Given the description of an element on the screen output the (x, y) to click on. 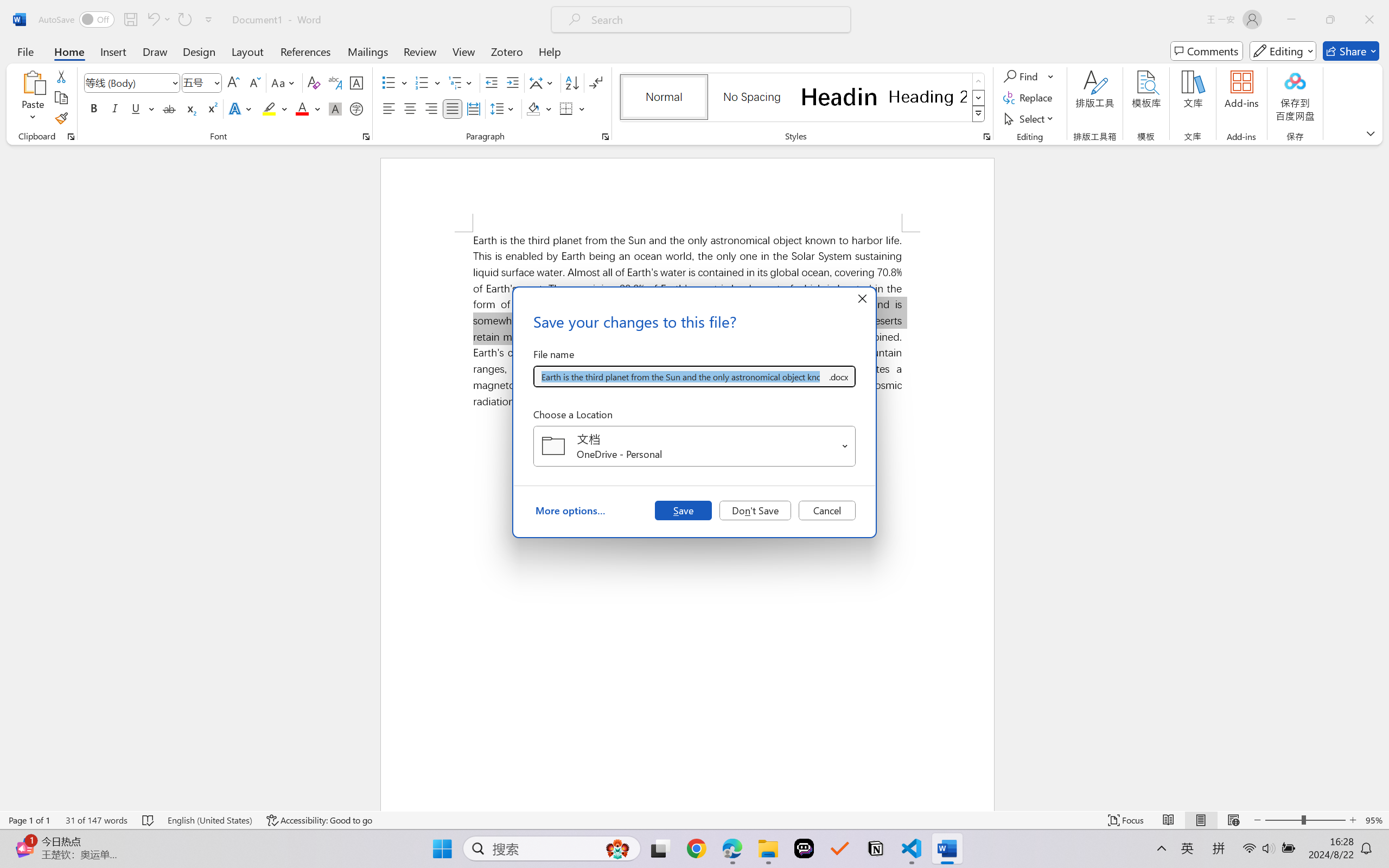
Font... (365, 136)
AutomationID: QuickStylesGallery (802, 97)
Character Shading (334, 108)
Asian Layout (542, 82)
Line down (1382, 803)
File name (680, 376)
Justify (452, 108)
Undo Paste Text Only (158, 19)
Copy (60, 97)
